Given the description of an element on the screen output the (x, y) to click on. 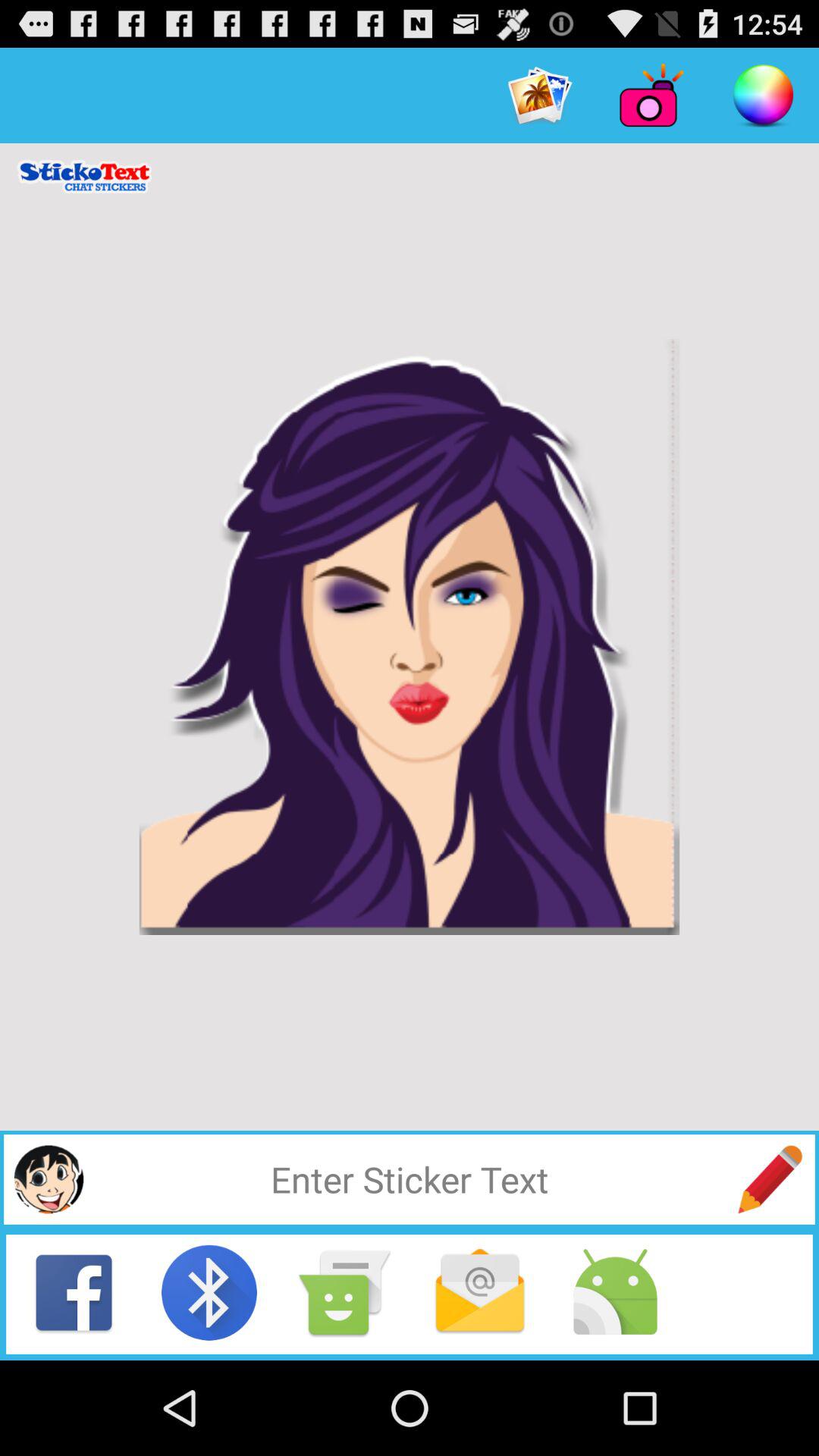
send as text (344, 1292)
